Given the description of an element on the screen output the (x, y) to click on. 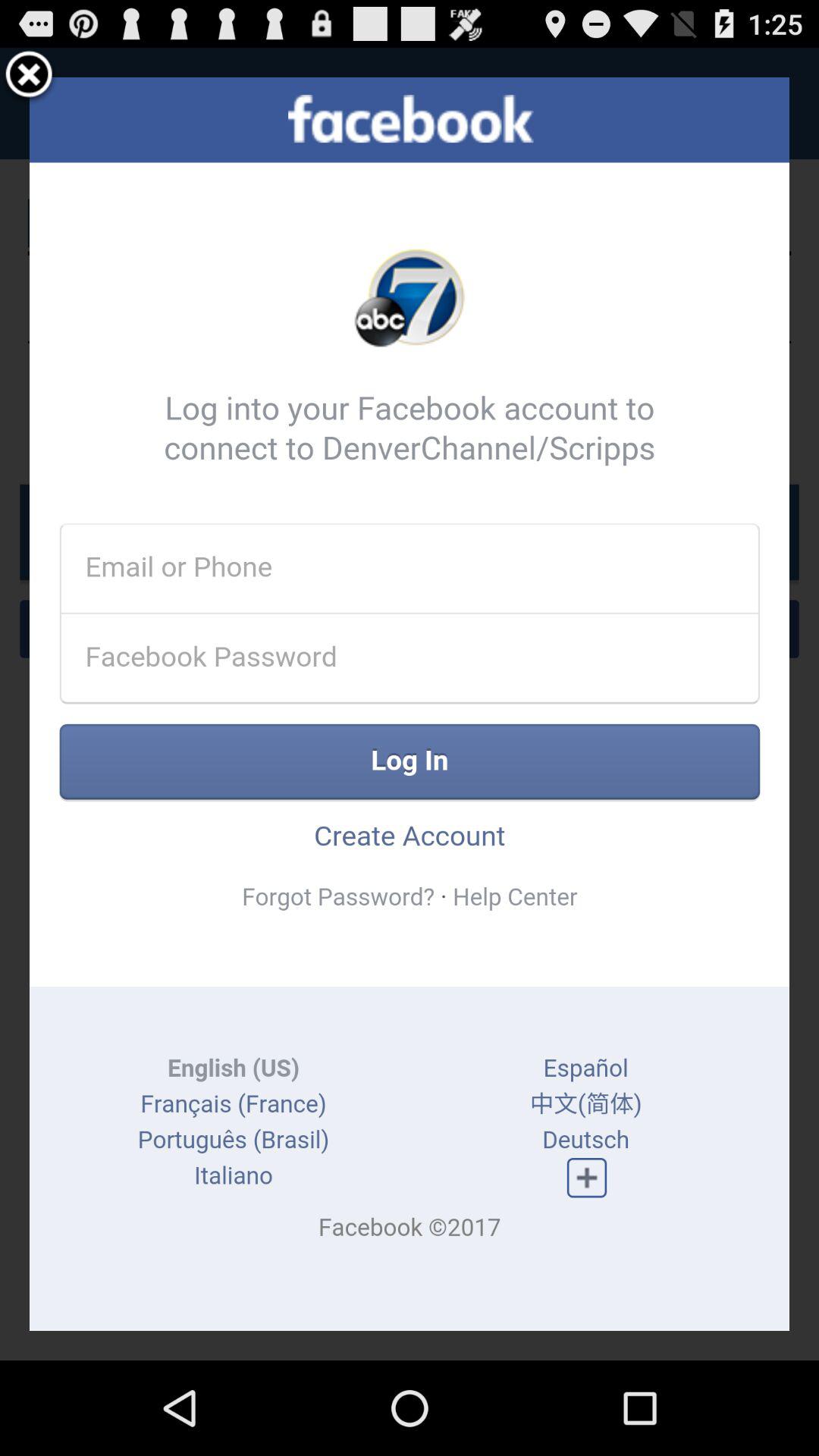
close option (29, 76)
